Given the description of an element on the screen output the (x, y) to click on. 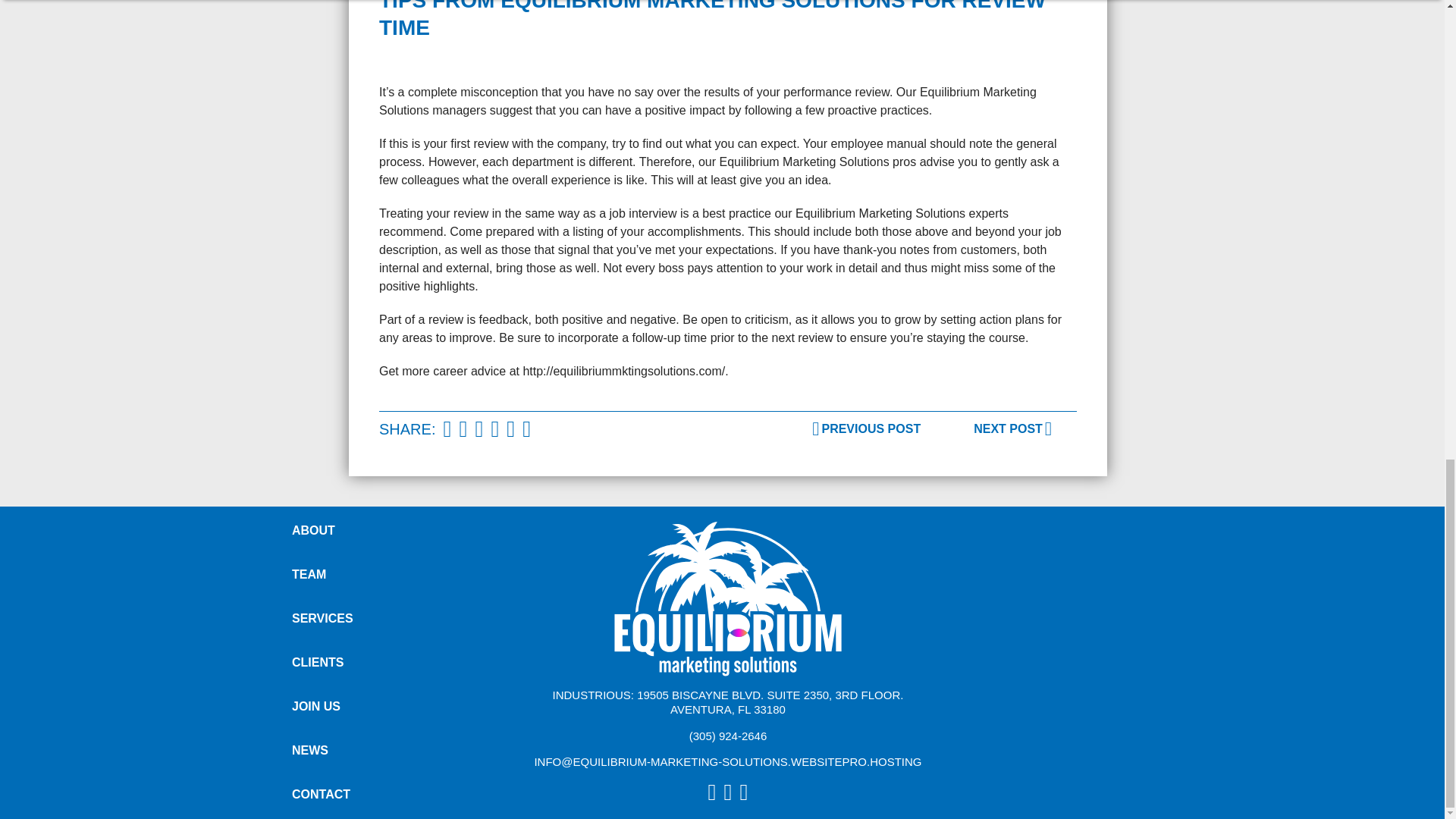
Equilibrium Marketing Solutions (727, 598)
